Given the description of an element on the screen output the (x, y) to click on. 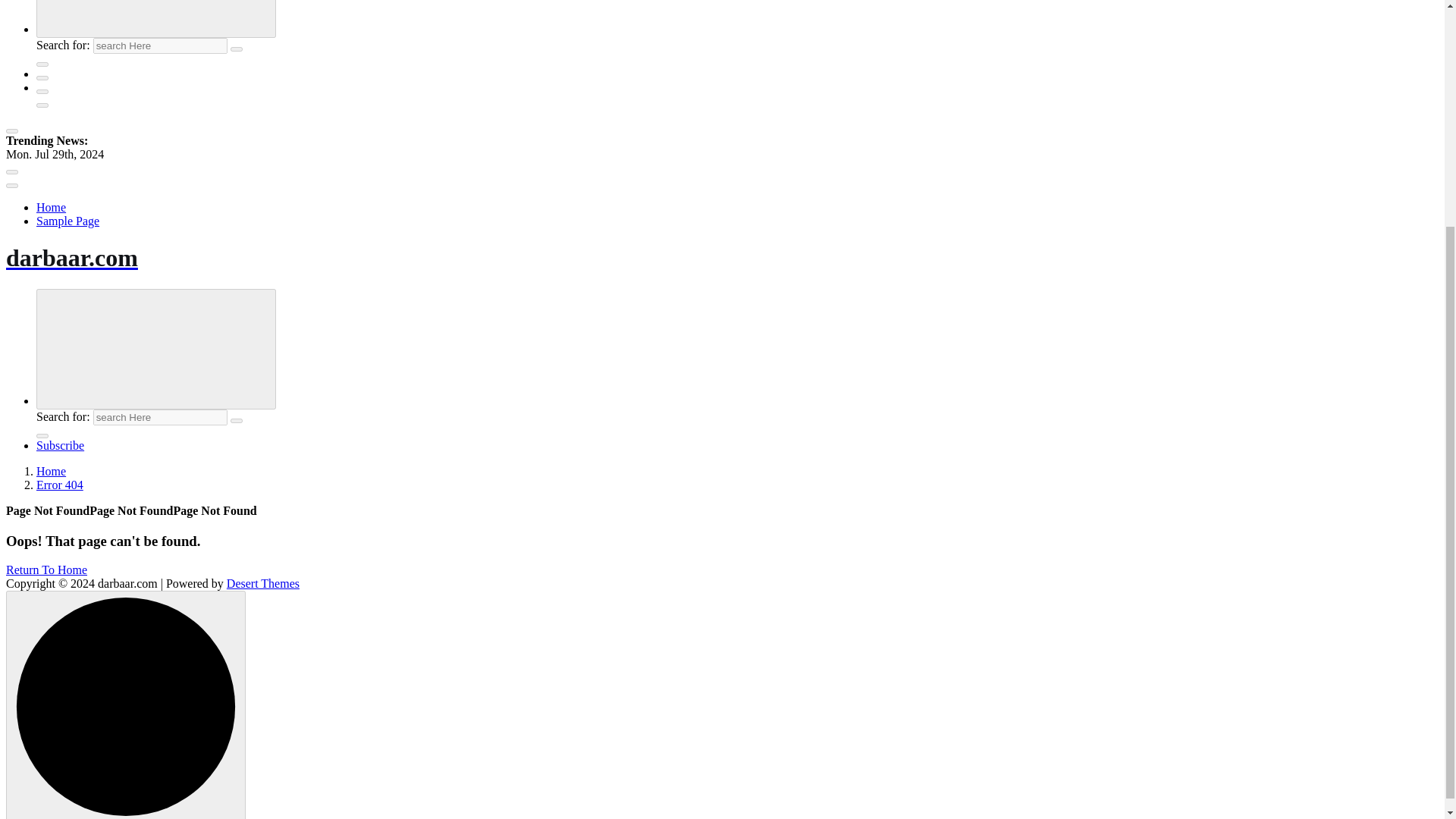
Home (50, 206)
Error 404 (59, 484)
Desert Themes (263, 583)
Subscribe (60, 445)
Sample Page (67, 220)
Return To Home (46, 569)
Home (50, 471)
Home (50, 206)
